Given the description of an element on the screen output the (x, y) to click on. 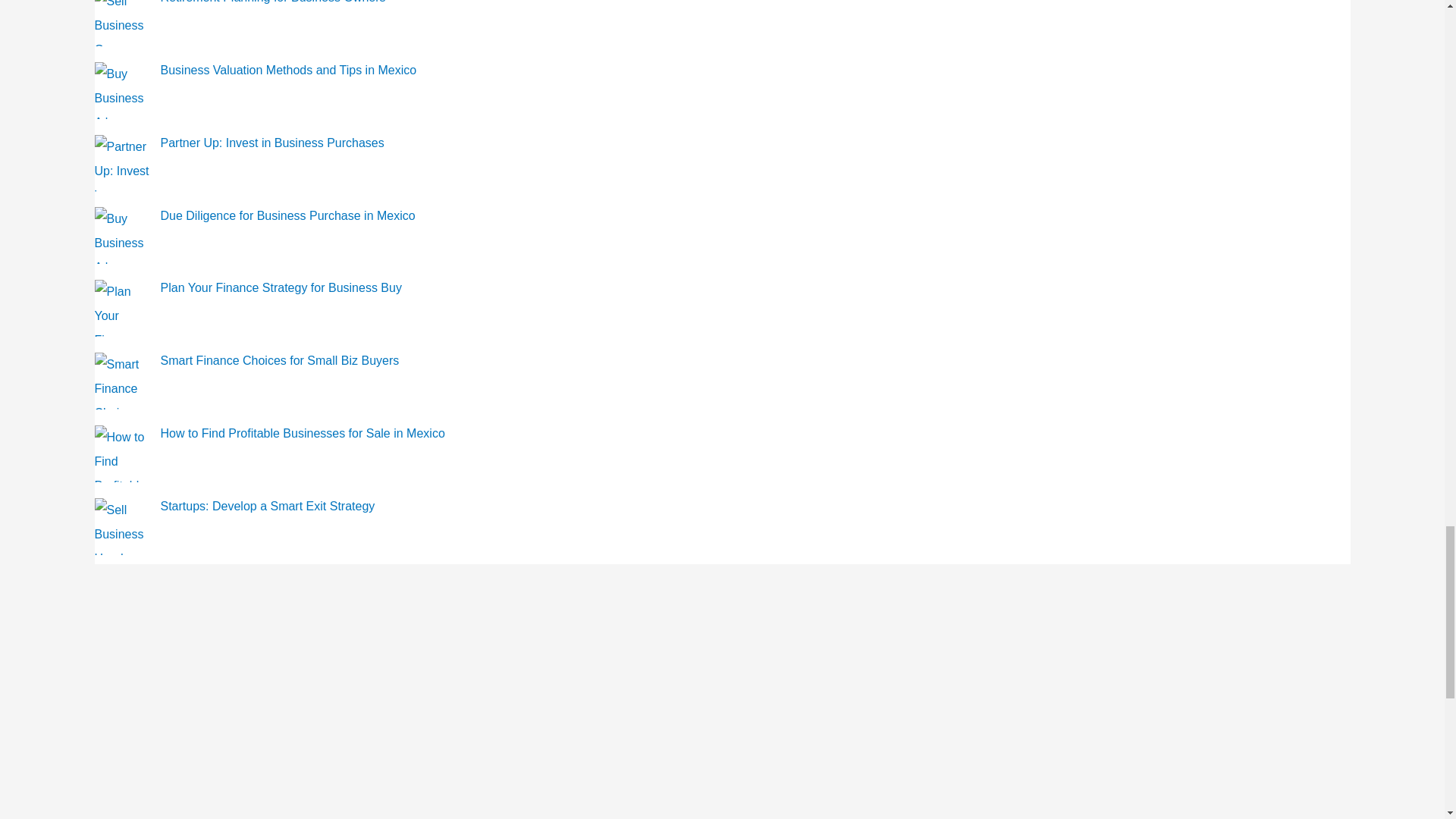
Retirement Planning for Business Owners (272, 2)
Plan Your Finance Strategy for Business Buy (280, 287)
Due Diligence for Business Purchase in Mexico (287, 215)
How to Find Profitable Businesses for Sale in Mexico (302, 432)
Smart Finance Choices for Small Biz Buyers (279, 359)
Partner Up: Invest in Business Purchases (272, 142)
Business Valuation Methods and Tips in Mexico (288, 69)
Startups: Develop a Smart Exit Strategy (267, 505)
